Given the description of an element on the screen output the (x, y) to click on. 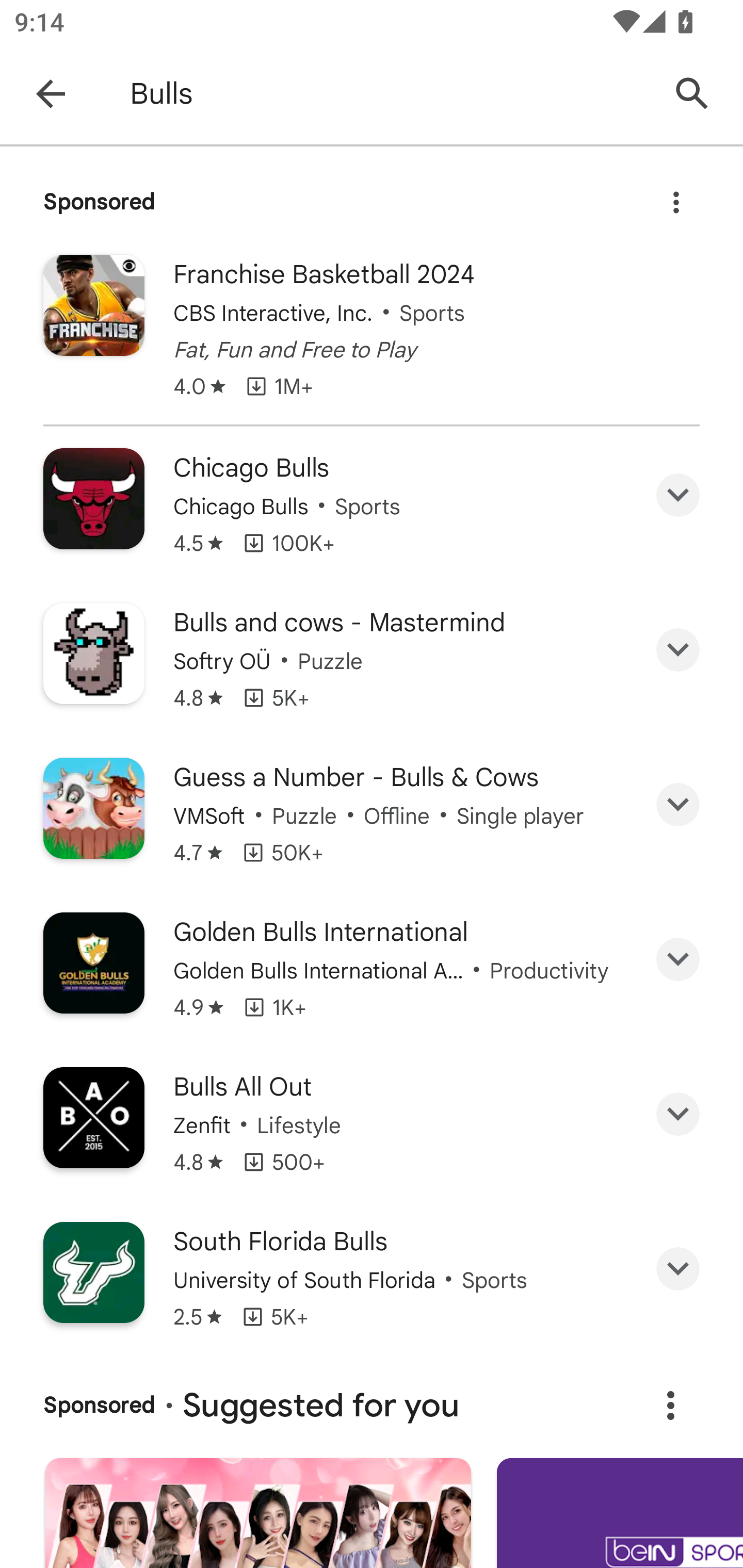
Bulls (389, 93)
Navigate up (50, 93)
Search Google Play (692, 93)
About this ad (676, 196)
Expand content for Chicago Bulls (677, 494)
Expand content for Bulls and cows - Mastermind (677, 649)
Expand content for Guess a Number - Bulls & Cows (677, 805)
Expand content for Golden Bulls International (677, 958)
Expand content for Bulls All Out (677, 1113)
Expand content for South Florida Bulls (677, 1269)
About this ad (670, 1405)
